Given the description of an element on the screen output the (x, y) to click on. 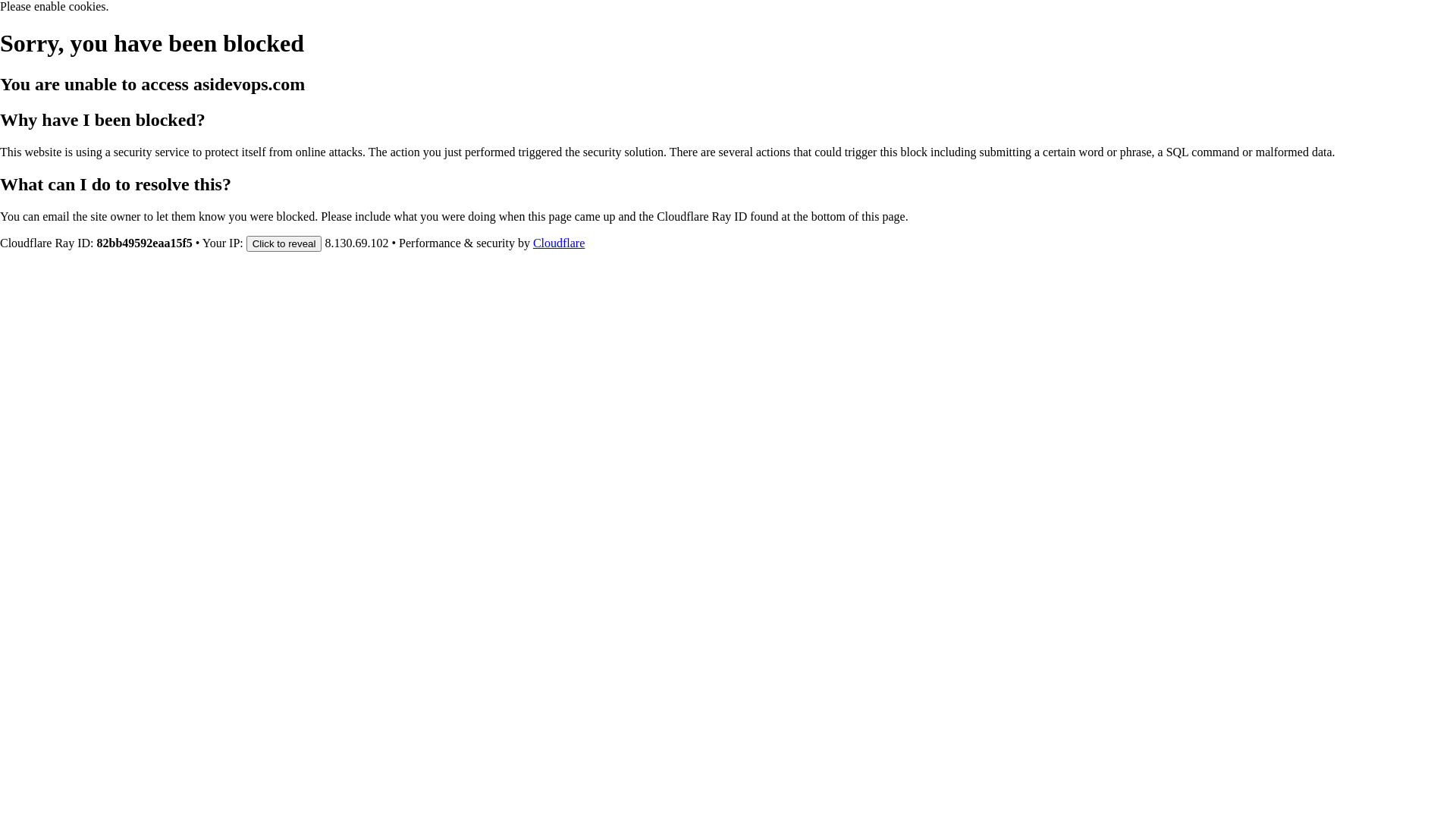
Cloudflare Element type: text (558, 242)
Click to reveal Element type: text (284, 243)
